Given the description of an element on the screen output the (x, y) to click on. 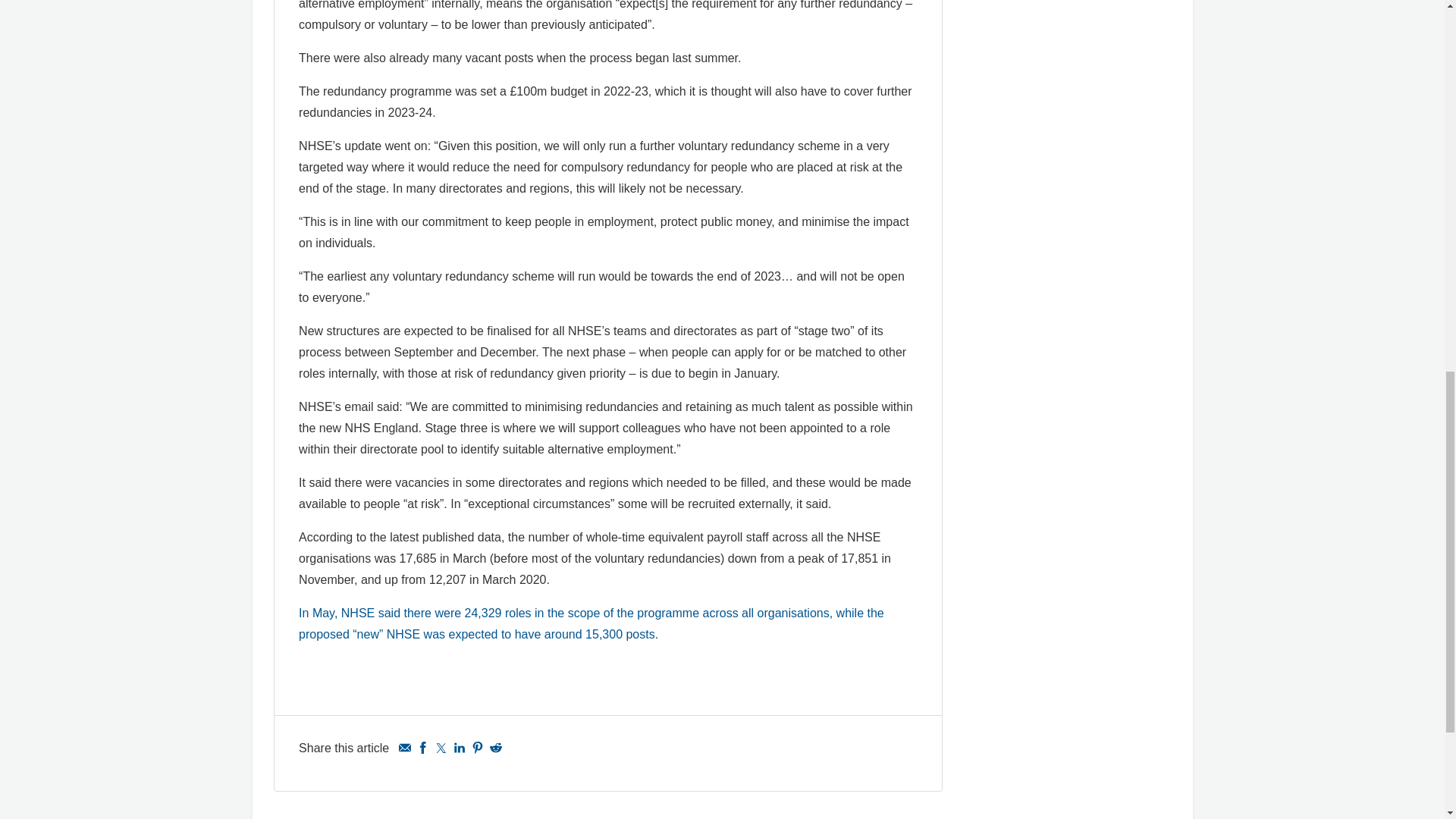
LinkedIn (458, 748)
Pinterest (477, 748)
Email this (404, 748)
Reddit (495, 748)
Twitter (440, 748)
Facebook (422, 748)
